Given the description of an element on the screen output the (x, y) to click on. 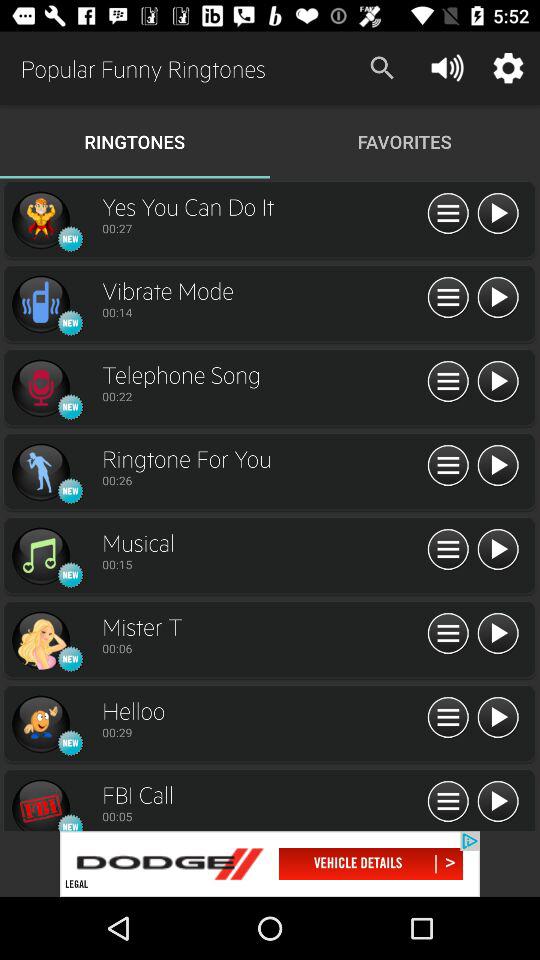
mister t avatar (40, 640)
